Given the description of an element on the screen output the (x, y) to click on. 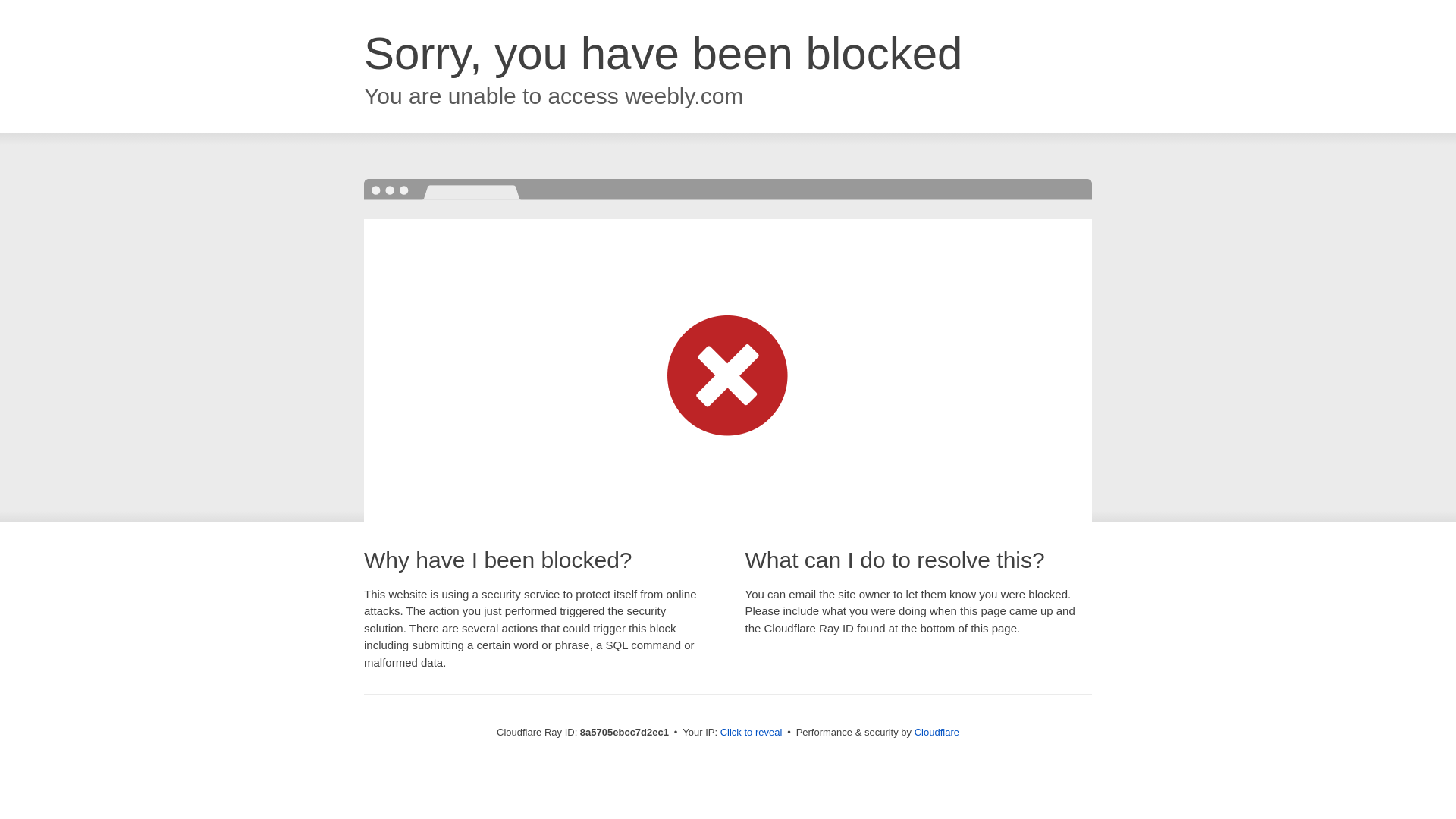
Click to reveal (751, 732)
Cloudflare (936, 731)
